Given the description of an element on the screen output the (x, y) to click on. 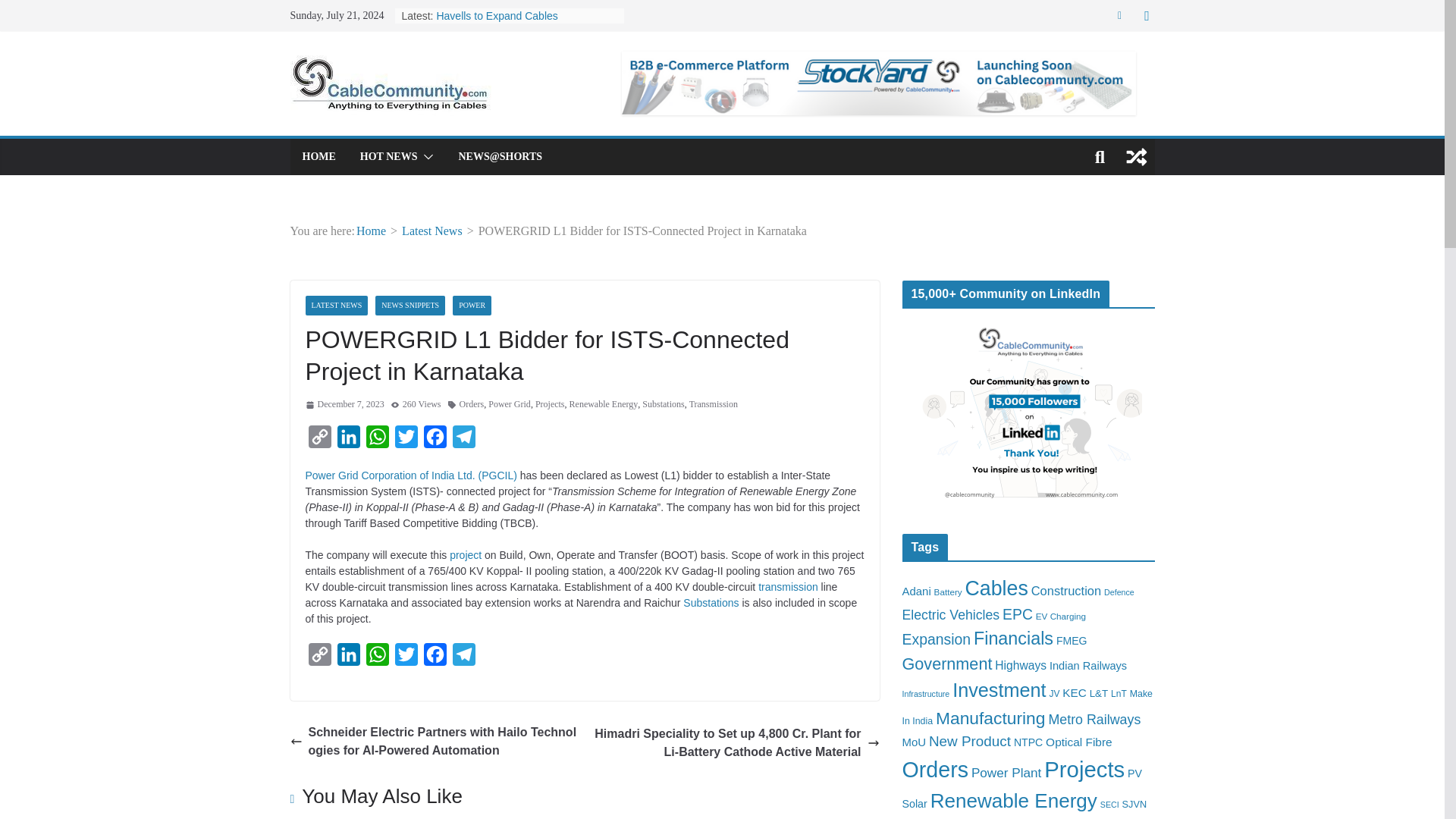
Telegram (462, 440)
Havells to Expand Cables Manufacturing at Alwar Plant (502, 23)
Substations (663, 404)
WhatsApp (376, 440)
Facebook (434, 440)
Havells to Expand Cables Manufacturing at Alwar Plant (502, 23)
LinkedIn (347, 440)
transmission (788, 586)
Home (370, 230)
Twitter (405, 440)
LATEST NEWS (336, 305)
Copy Link (318, 440)
HOME (317, 156)
10:01 am (344, 404)
Copy Link (318, 440)
